Given the description of an element on the screen output the (x, y) to click on. 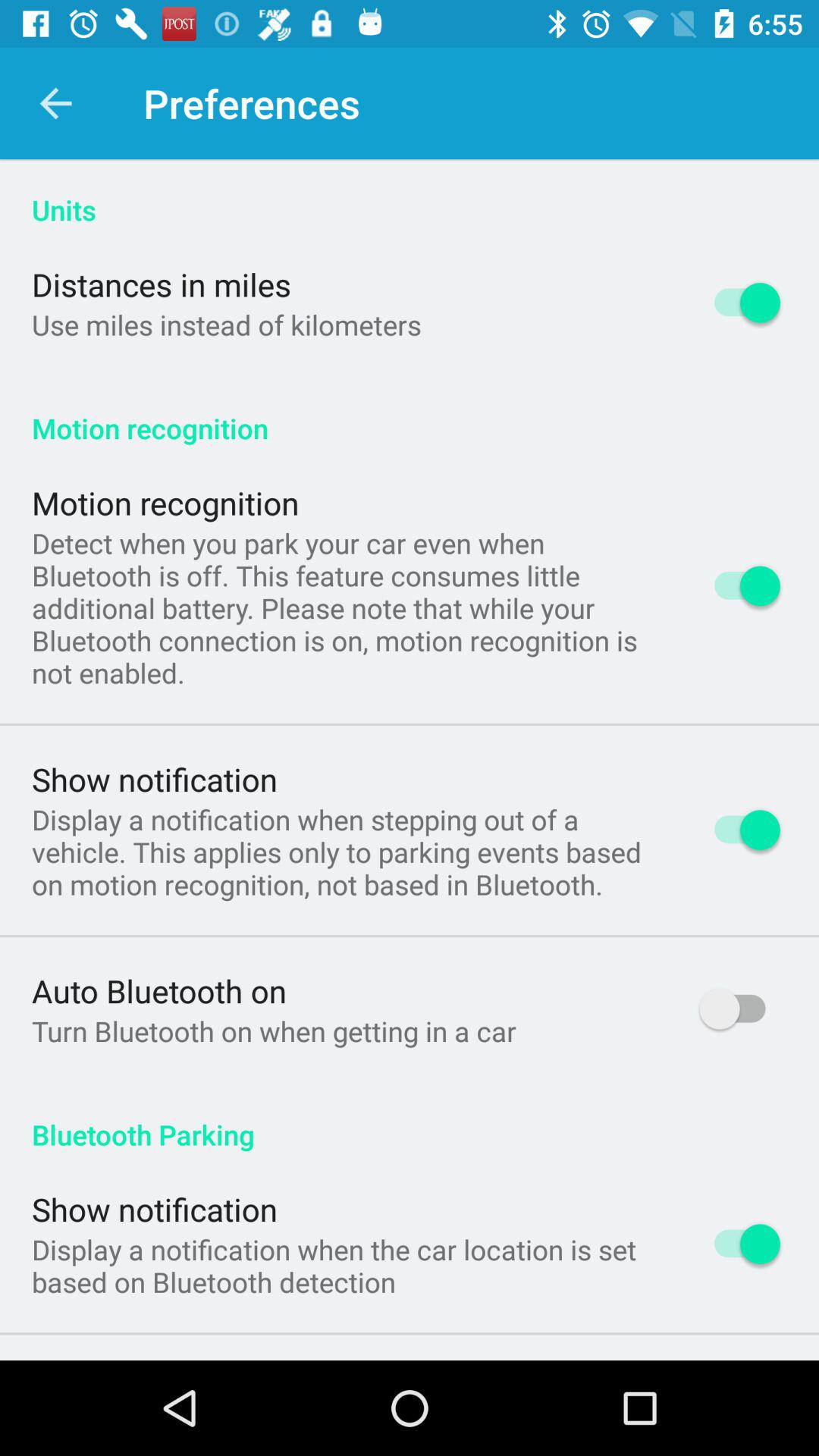
open distances in miles (161, 283)
